Given the description of an element on the screen output the (x, y) to click on. 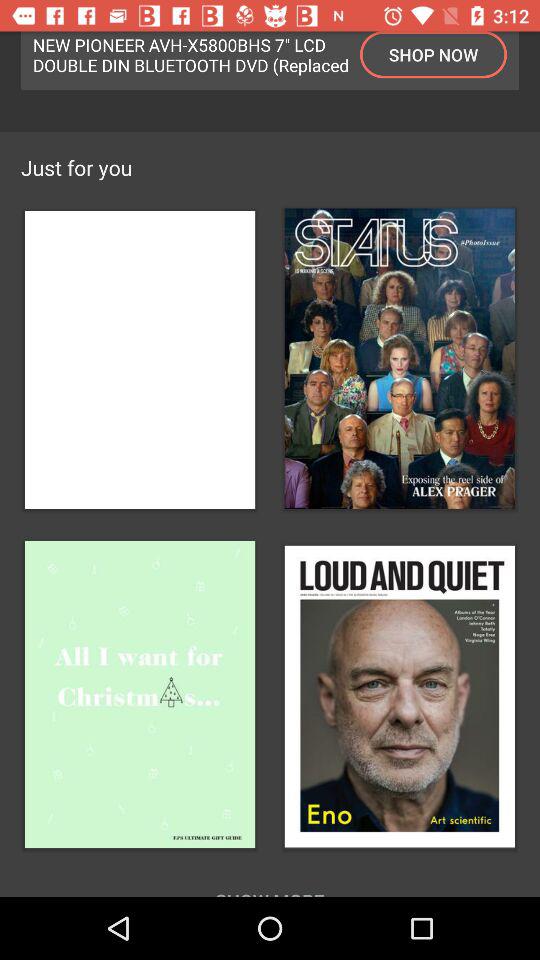
select icon next to the new pioneer avh item (433, 54)
